Given the description of an element on the screen output the (x, y) to click on. 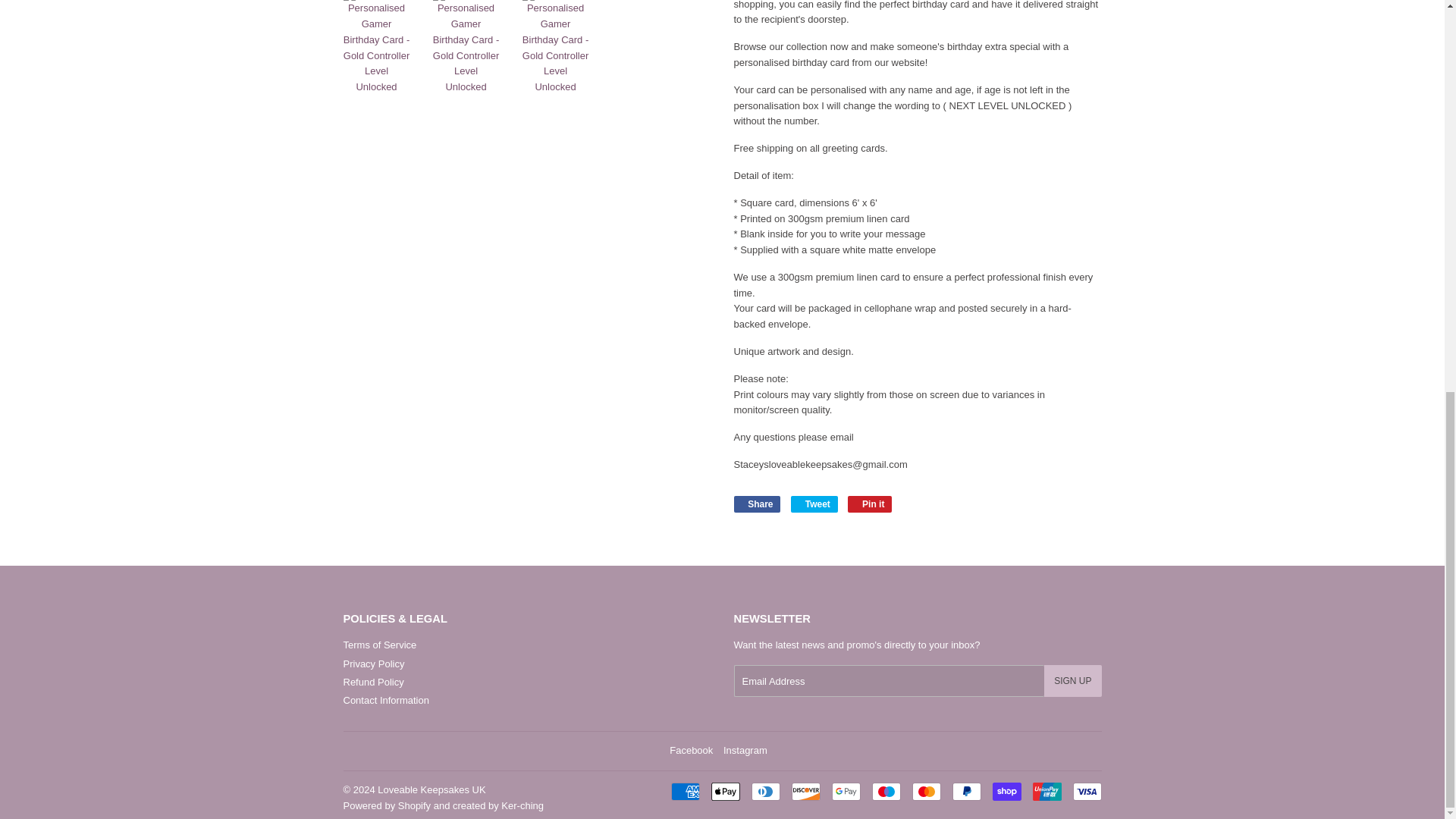
Google Pay (845, 791)
Tweet on Twitter (814, 504)
Diners Club (764, 791)
Share on Facebook (756, 504)
PayPal (966, 791)
Discover (806, 791)
Mastercard (925, 791)
American Express (683, 791)
Shop Pay (1005, 791)
Loveable Keepsakes UK on Instagram (745, 749)
Maestro (886, 791)
Union Pay (1046, 791)
Loveable Keepsakes UK on Facebook (691, 749)
Visa (1085, 791)
Apple Pay (725, 791)
